Given the description of an element on the screen output the (x, y) to click on. 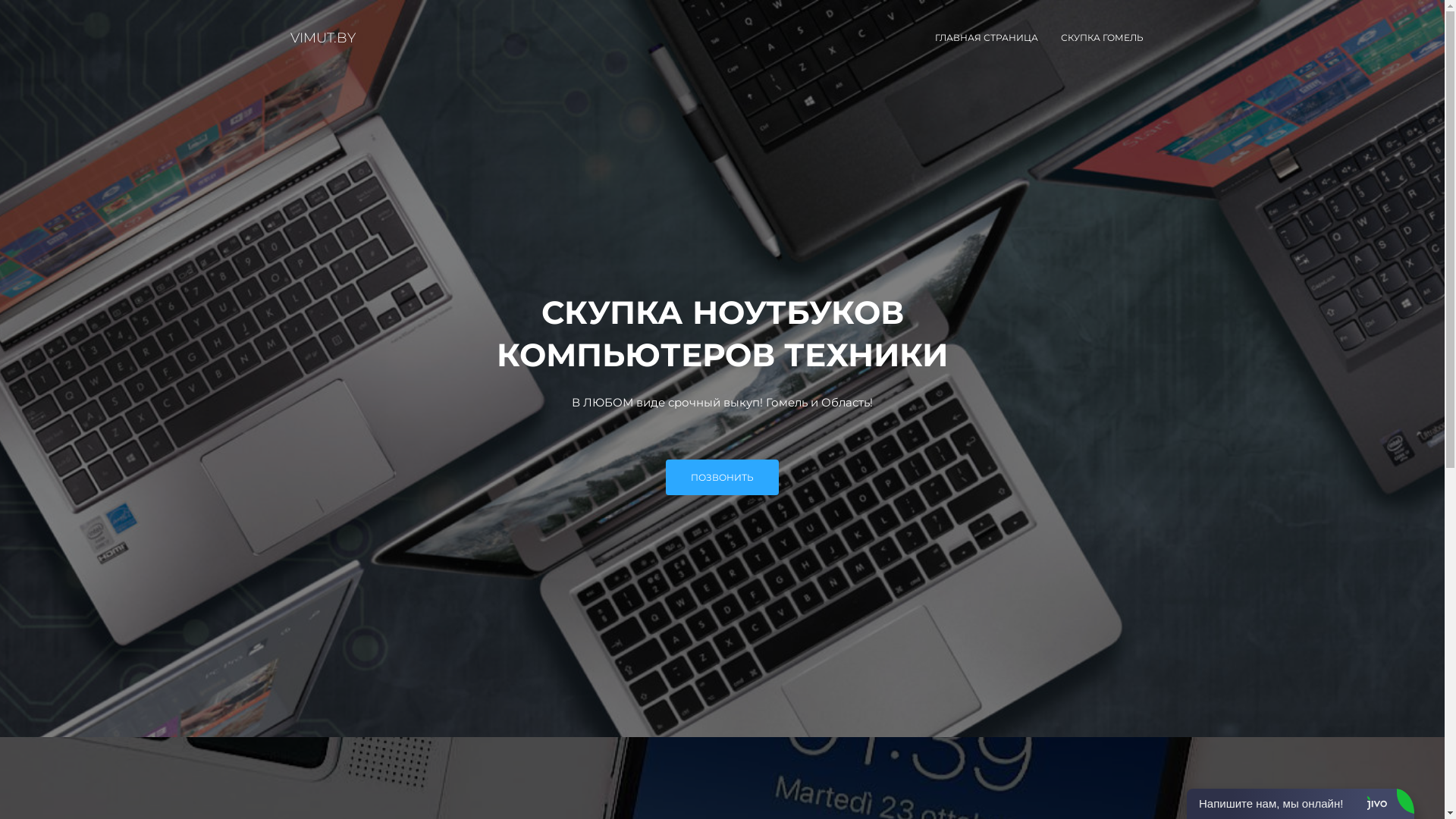
VIMUT.BY Element type: text (323, 37)
